Given the description of an element on the screen output the (x, y) to click on. 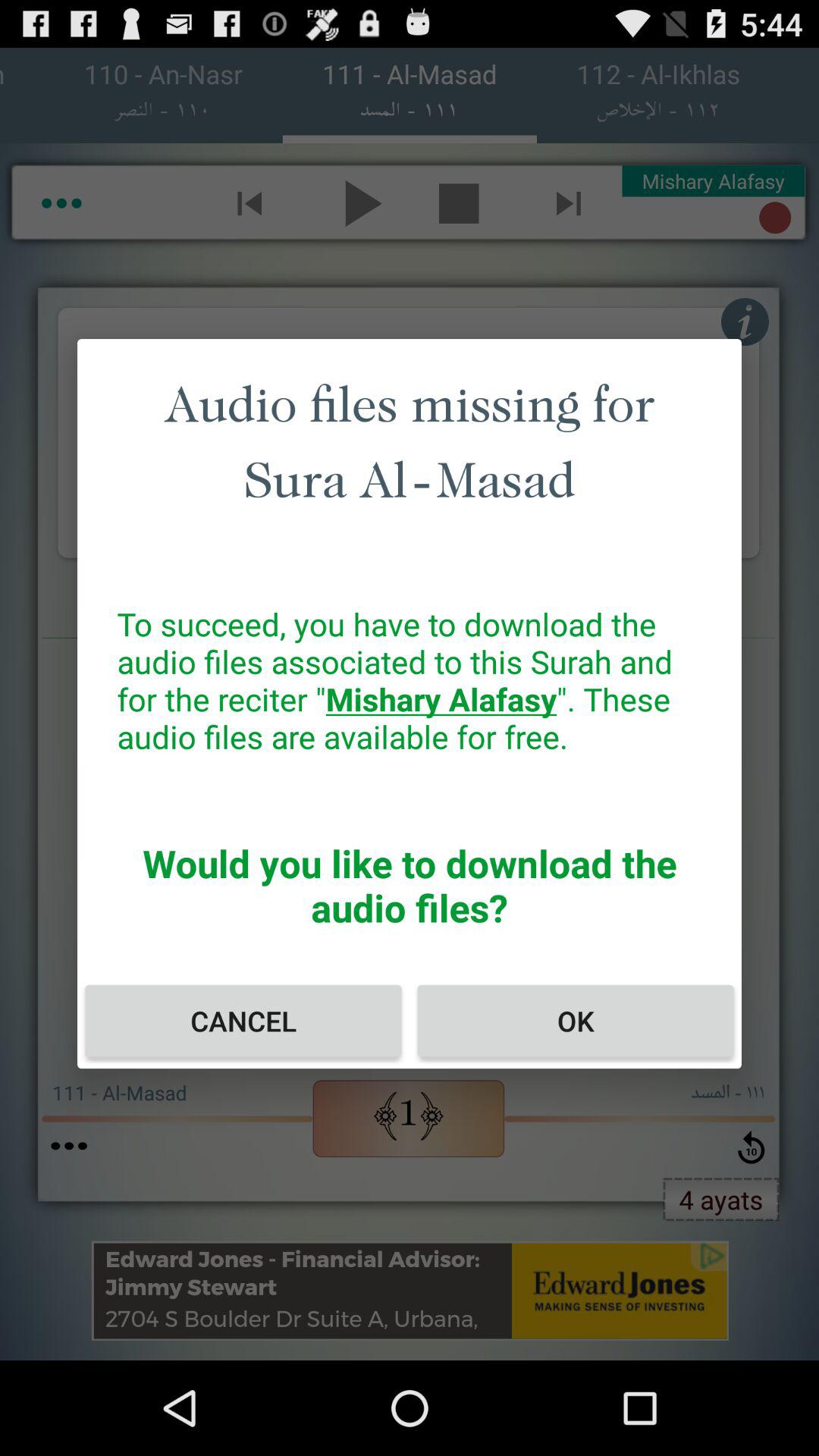
scroll to cancel (243, 1020)
